Given the description of an element on the screen output the (x, y) to click on. 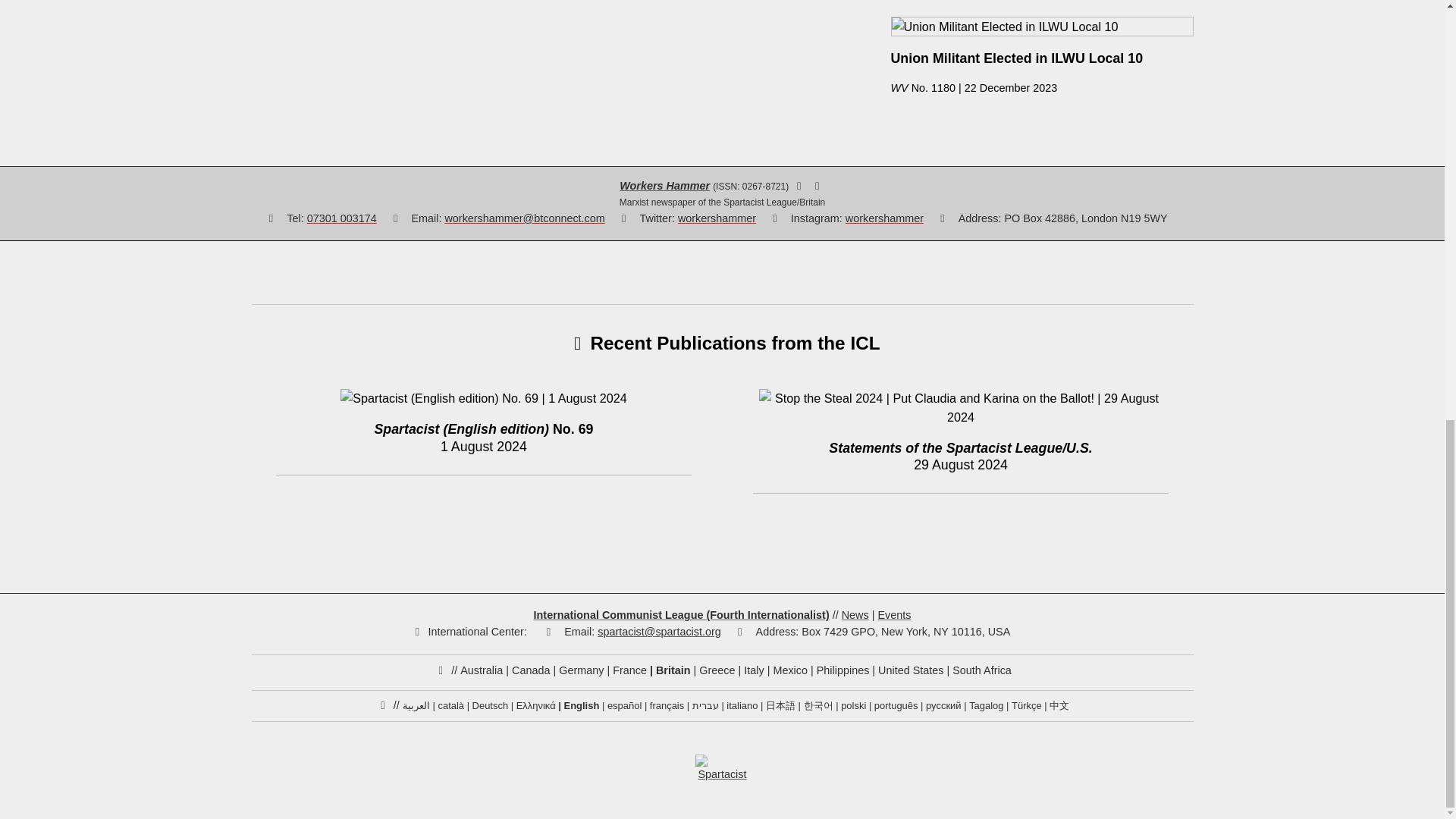
atom.xml (799, 185)
Workers Hammer (665, 185)
07301 003174 (342, 218)
rss.xml (817, 185)
Workers Vanguard (898, 87)
Union Militant Elected in ILWU Local 10 (1040, 41)
